Given the description of an element on the screen output the (x, y) to click on. 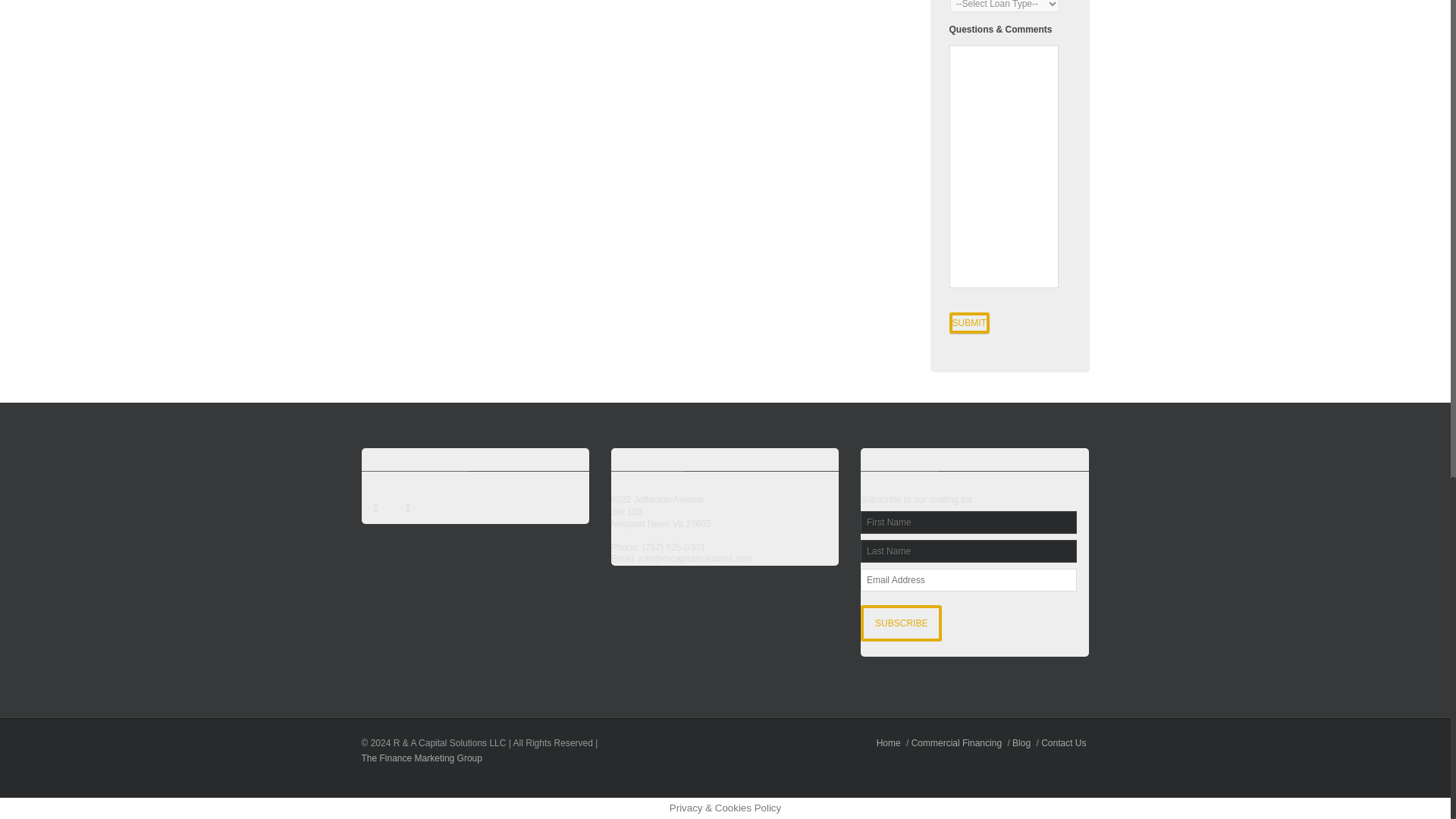
Subscribe (901, 623)
Submit (969, 322)
Submit (969, 322)
